Given the description of an element on the screen output the (x, y) to click on. 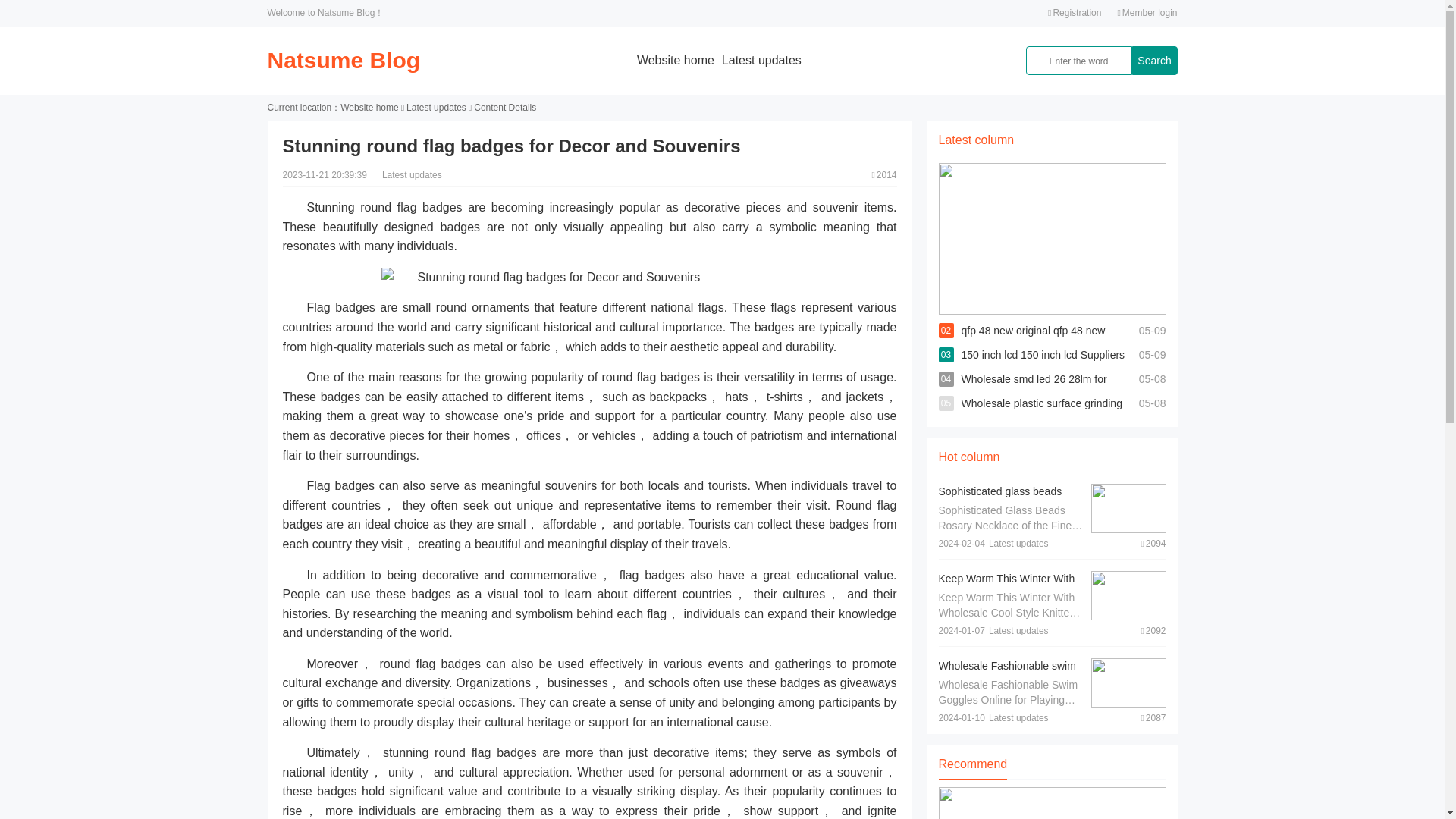
Website home (368, 107)
Latest updates (762, 60)
150 inch lcd 150 inch lcd Suppliers and Manufacturers (1042, 366)
Latest updates (435, 107)
Keep Warm This Winter With Wholesale cool style knitted hats (1007, 593)
Website home (675, 60)
Member login (1146, 12)
Search (1153, 60)
Registration (1074, 12)
Natsume Blog (343, 59)
